Given the description of an element on the screen output the (x, y) to click on. 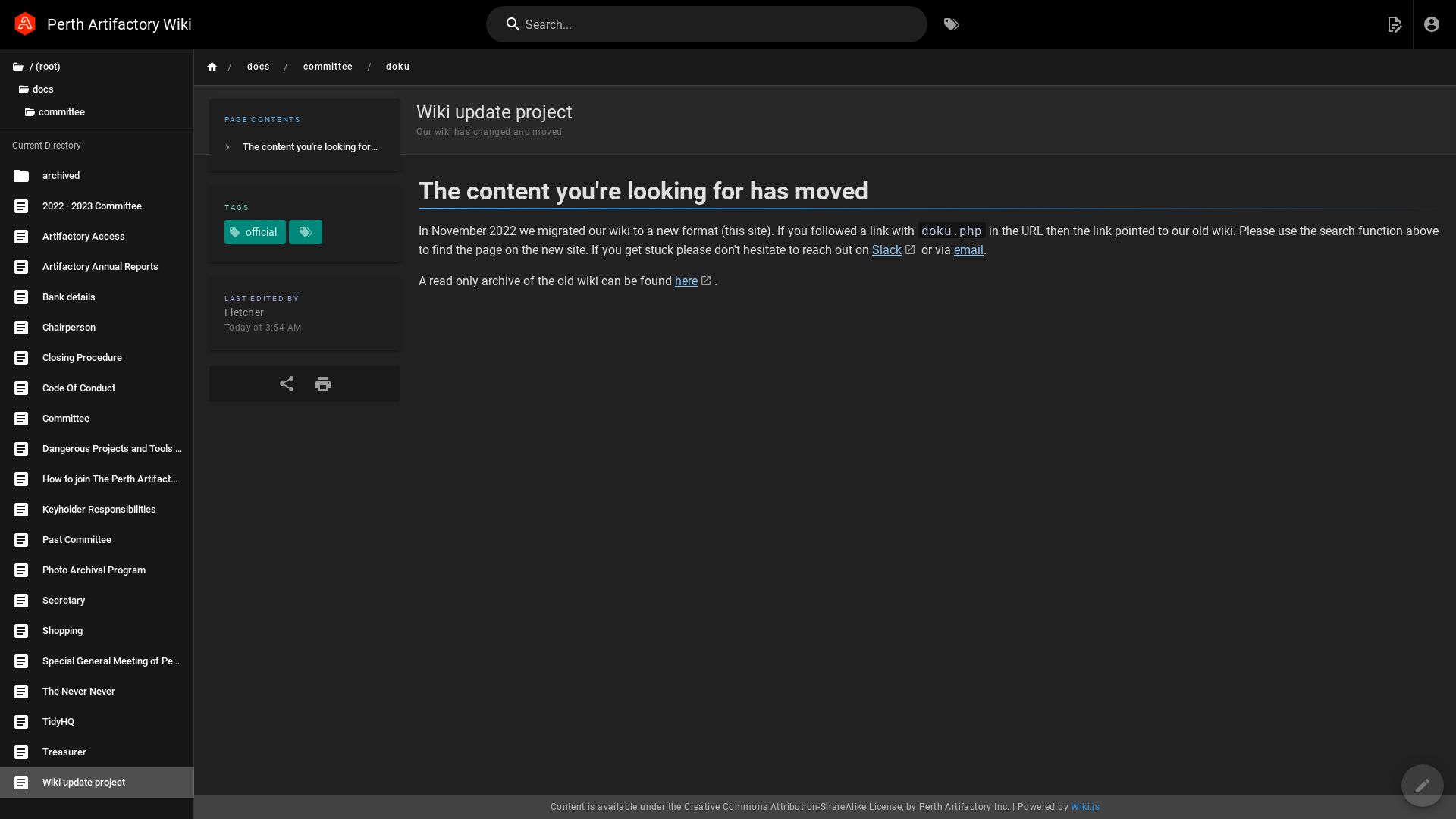
Slack Element type: text (895, 249)
Code Of Conduct Element type: text (97, 388)
Chairperson Element type: text (97, 327)
Treasurer Element type: text (97, 752)
Secretary Element type: text (97, 600)
Closing Procedure Element type: text (97, 357)
Special General Meeting of Perth Artifactory Inc Element type: text (97, 661)
Committee Element type: text (97, 418)
TidyHQ Element type: text (97, 721)
email Element type: text (968, 249)
Shopping Element type: text (97, 630)
2022 - 2023 Committee Element type: text (97, 206)
Wiki.js Element type: text (1084, 806)
The Never Never Element type: text (97, 691)
committee Element type: text (327, 66)
doku Element type: text (397, 66)
How to join The Perth Artifactory Element type: text (97, 479)
Keyholder Responsibilities Element type: text (97, 509)
Artifactory Annual Reports Element type: text (97, 266)
Past Committee Element type: text (97, 539)
Wiki update project Element type: text (97, 782)
Bank details Element type: text (97, 297)
official Element type: text (254, 231)
Artifactory Access Element type: text (97, 236)
Photo Archival Program Element type: text (97, 570)
docs Element type: text (257, 66)
Dangerous Projects and Tools Policy Element type: text (97, 448)
here Element type: text (694, 280)
